Given the description of an element on the screen output the (x, y) to click on. 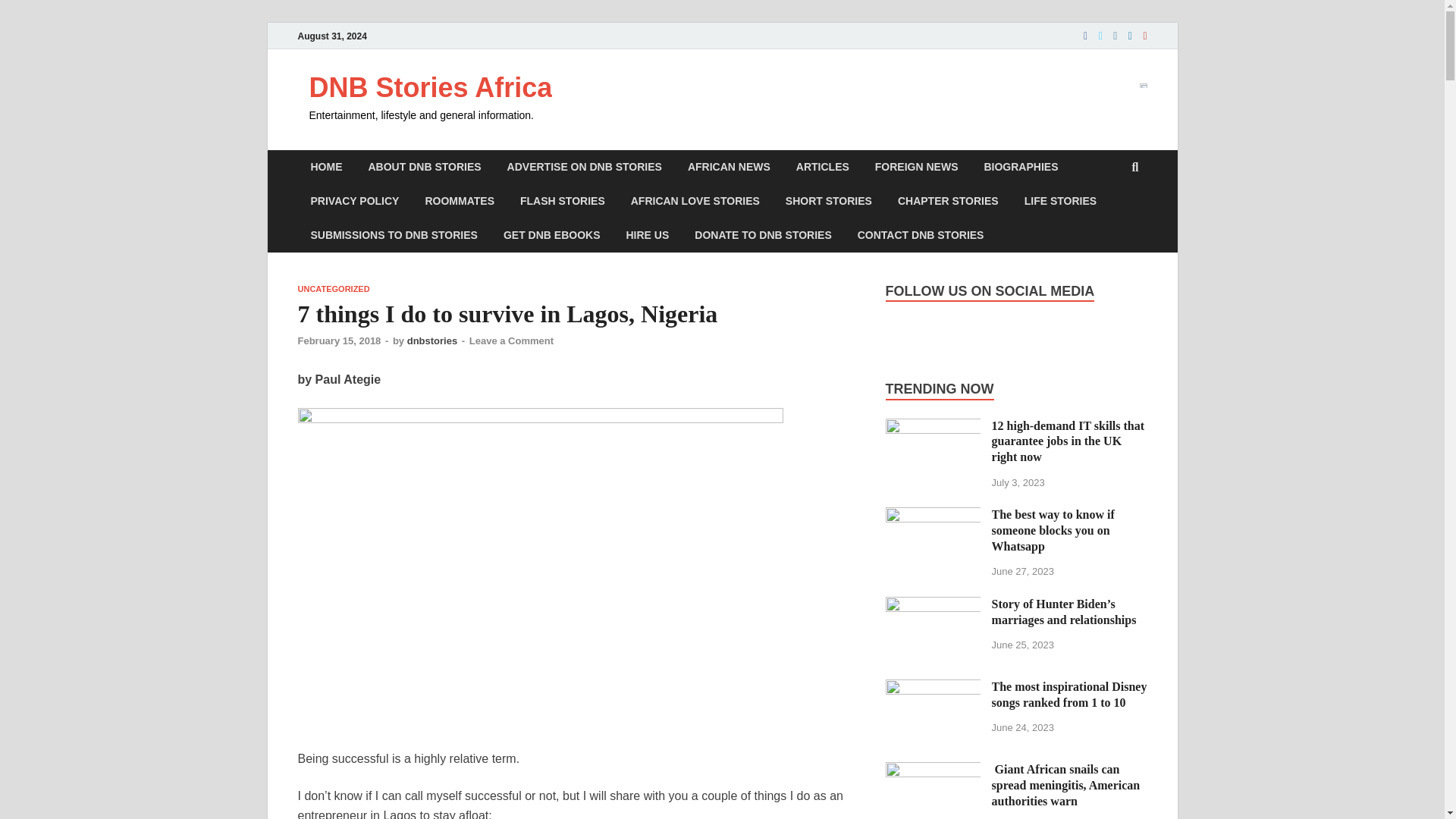
SHORT STORIES (829, 201)
February 15, 2018 (338, 340)
LIFE STORIES (1060, 201)
FOREIGN NEWS (916, 166)
BIOGRAPHIES (1020, 166)
PRIVACY POLICY (354, 201)
dnbstories (432, 340)
ARTICLES (822, 166)
HOME (326, 166)
SUBMISSIONS TO DNB STORIES (393, 235)
